Given the description of an element on the screen output the (x, y) to click on. 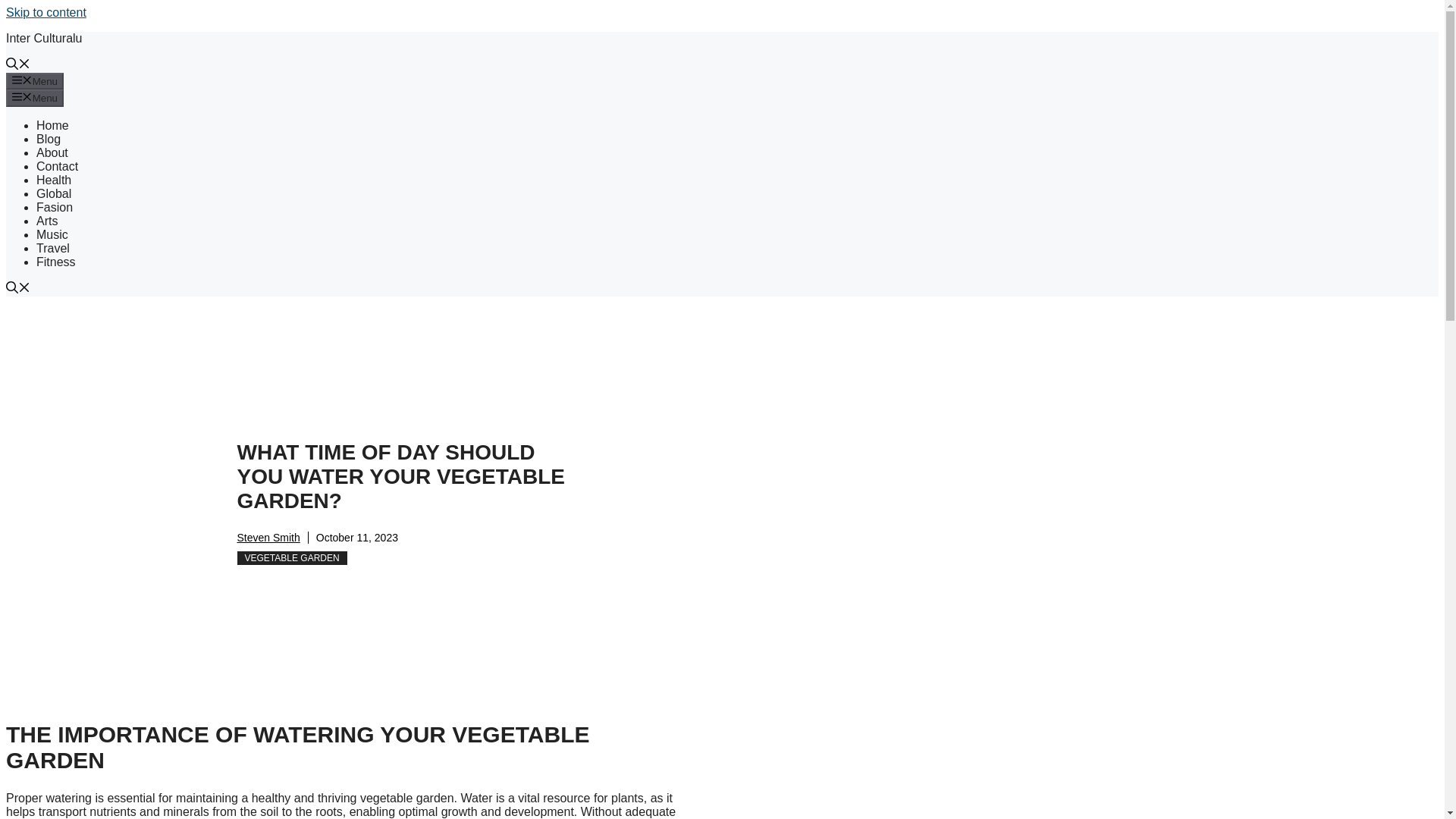
Home (52, 124)
Contact (57, 165)
Fitness (55, 261)
Travel (52, 247)
Health (53, 179)
Arts (47, 220)
Fasion (54, 206)
Blog (48, 138)
Steven Smith (267, 537)
Menu (34, 80)
Skip to content (45, 11)
VEGETABLE GARDEN (290, 558)
Music (52, 234)
About (52, 152)
Global (53, 193)
